Given the description of an element on the screen output the (x, y) to click on. 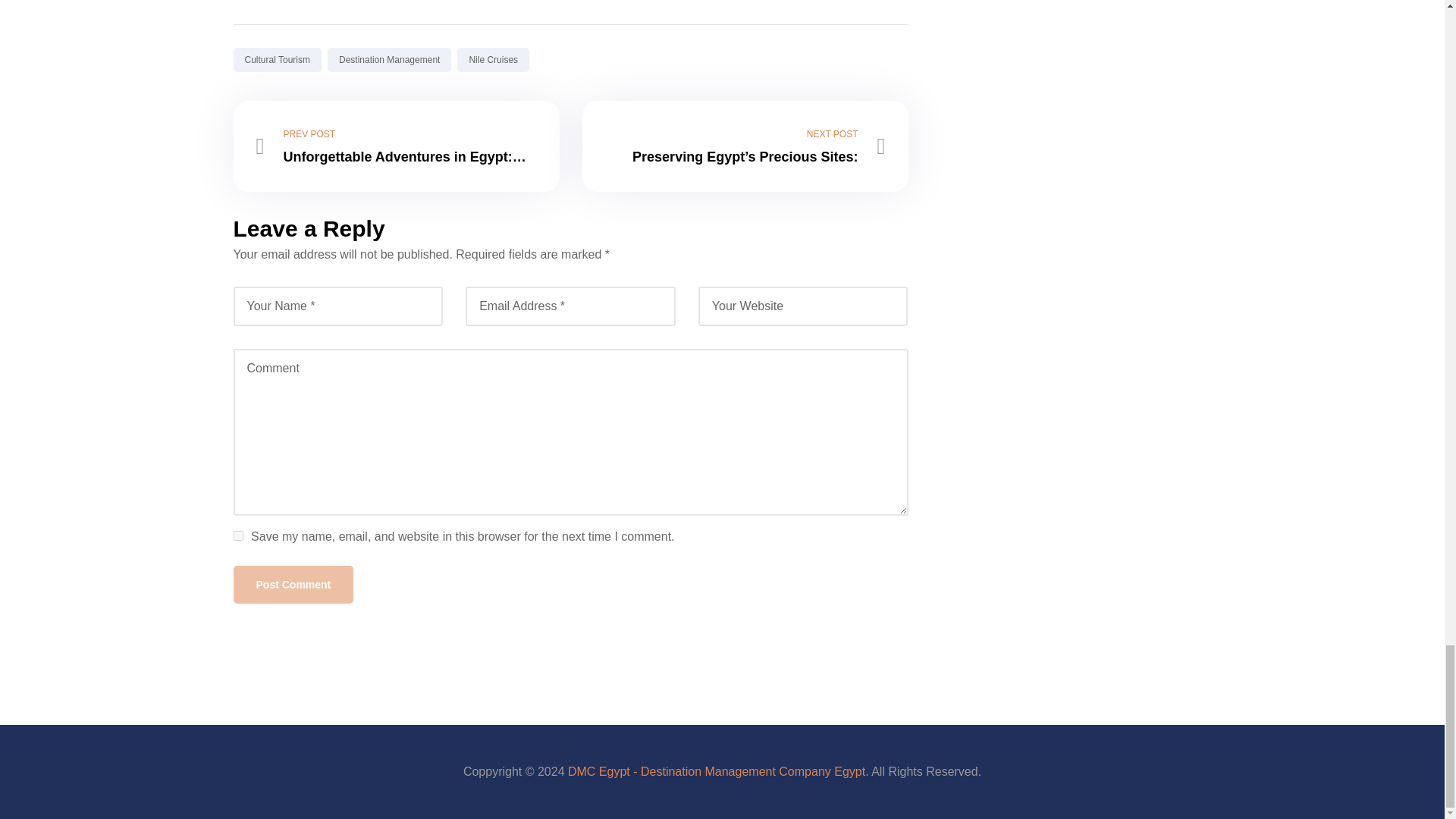
Post Comment (292, 584)
Post Comment (292, 584)
Cultural Tourism (276, 59)
yes (237, 535)
Nile Cruises (493, 59)
Destination Management (389, 59)
